Given the description of an element on the screen output the (x, y) to click on. 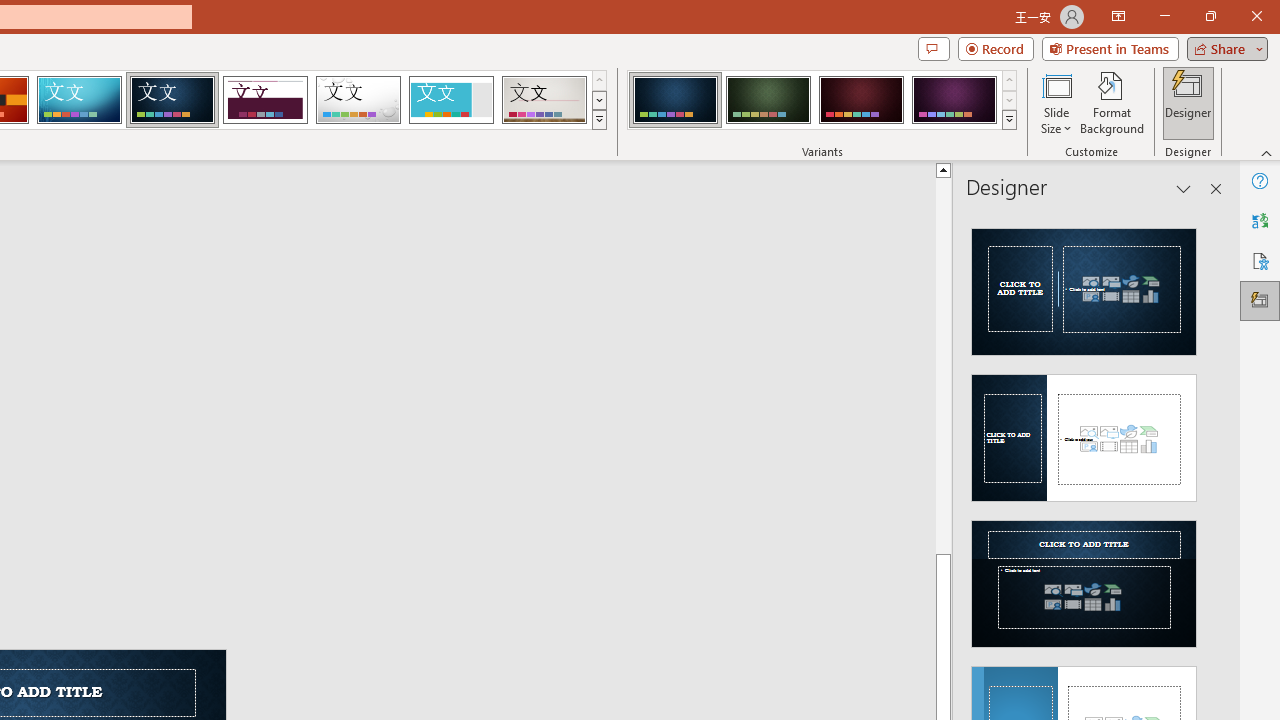
Damask Variant 1 (674, 100)
Droplet (358, 100)
Dividend (265, 100)
